Given the description of an element on the screen output the (x, y) to click on. 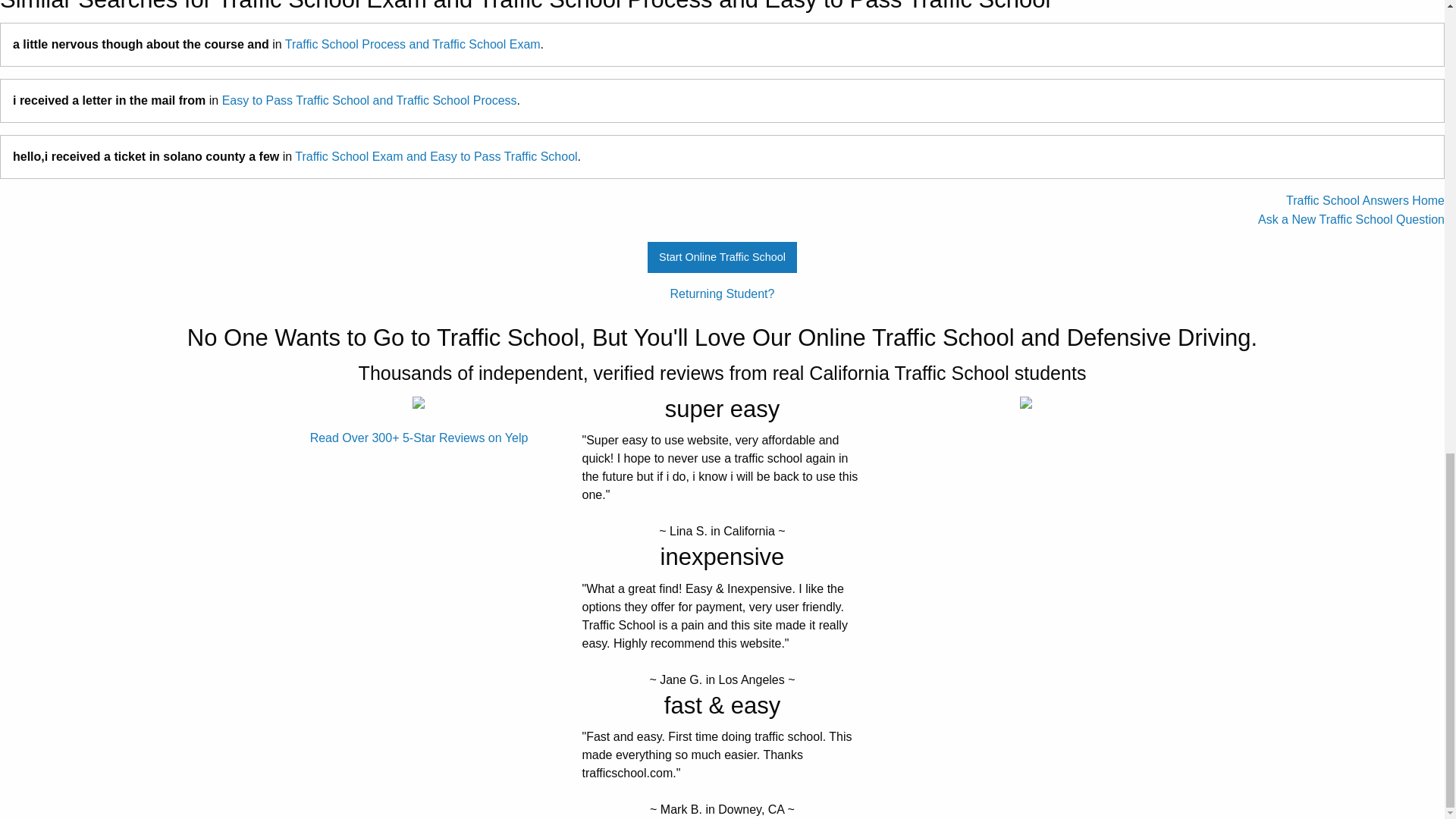
Traffic School Process and Traffic School Exam (412, 43)
Traffic School Exam and Easy to Pass Traffic School (435, 155)
Easy to Pass Traffic School and Traffic School Process (369, 100)
Returning Student? (721, 293)
Start Online Traffic School (722, 256)
